Given the description of an element on the screen output the (x, y) to click on. 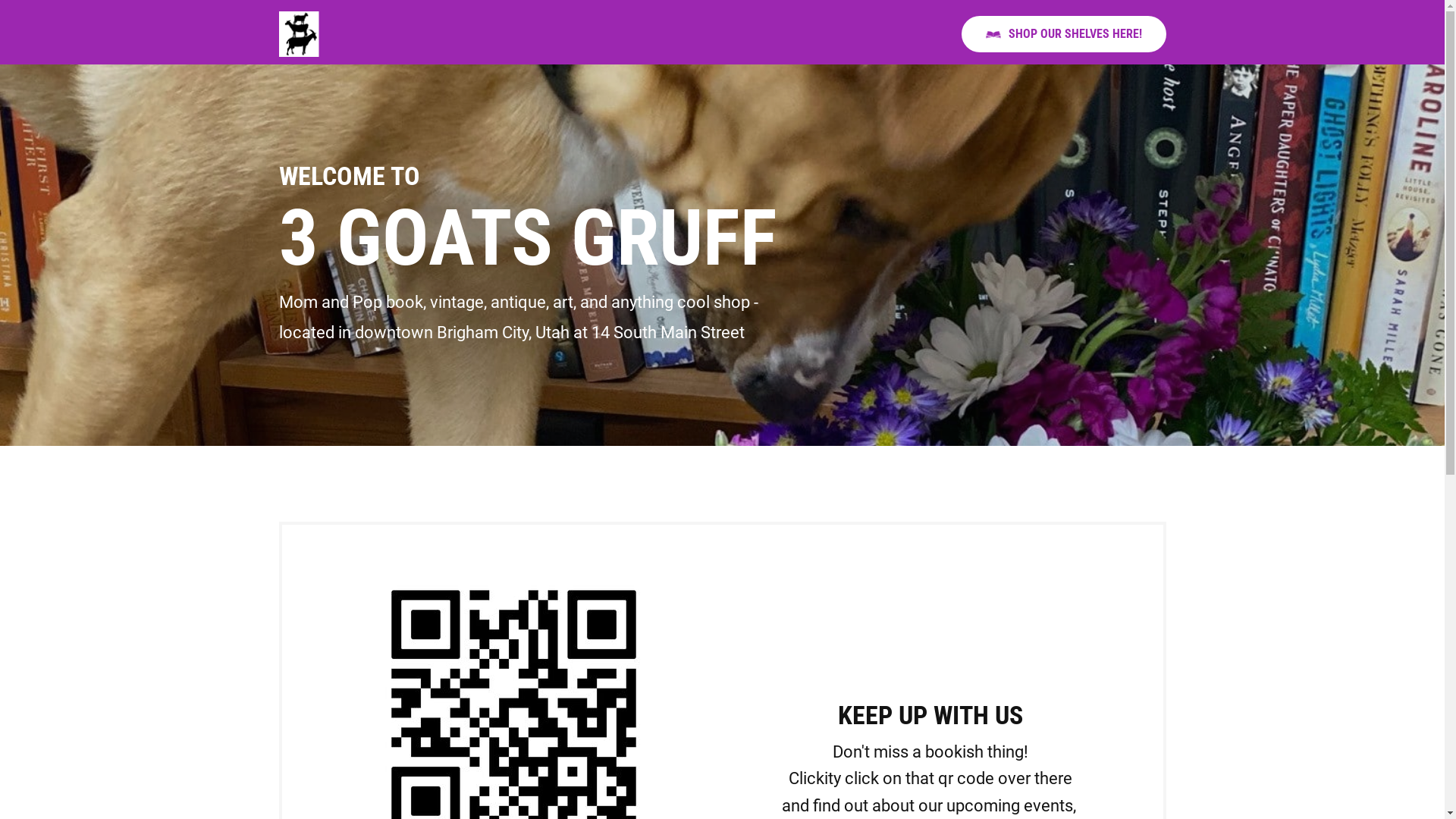
SHOP OUR SHELVES HERE! Element type: text (1063, 33)
